Given the description of an element on the screen output the (x, y) to click on. 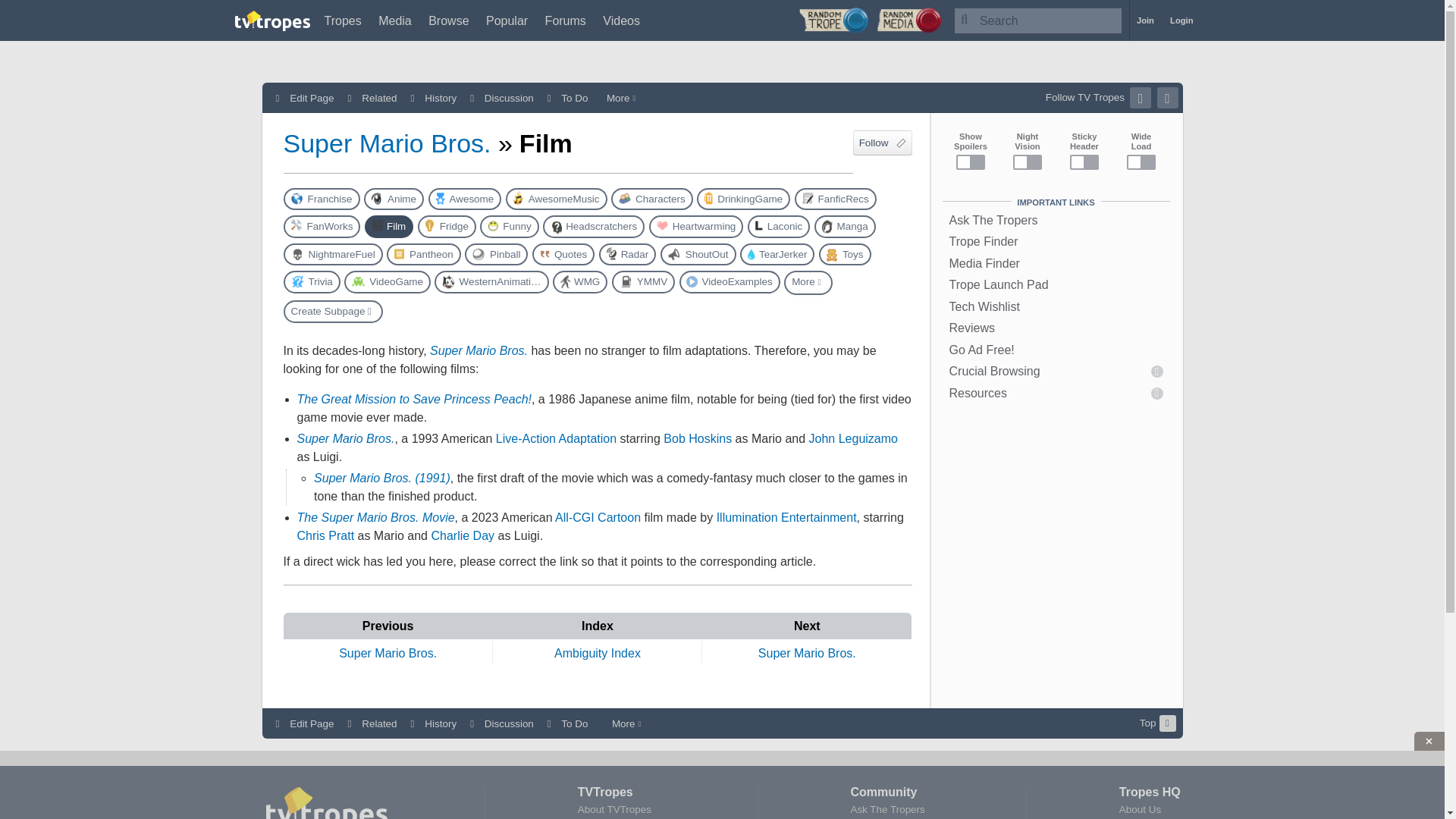
The Pantheon page (424, 254)
The Quotes page (563, 254)
The Laconic page (778, 226)
The Franchise page (321, 198)
Media (395, 20)
The FanWorks page (322, 226)
The Heartwarming page (696, 226)
The Anime page (393, 198)
Browse (448, 20)
The NightmareFuel page (332, 254)
Forums (565, 20)
The DrinkingGame page (743, 198)
The Pinball page (495, 254)
The Characters page (652, 198)
The Film page (389, 226)
